Given the description of an element on the screen output the (x, y) to click on. 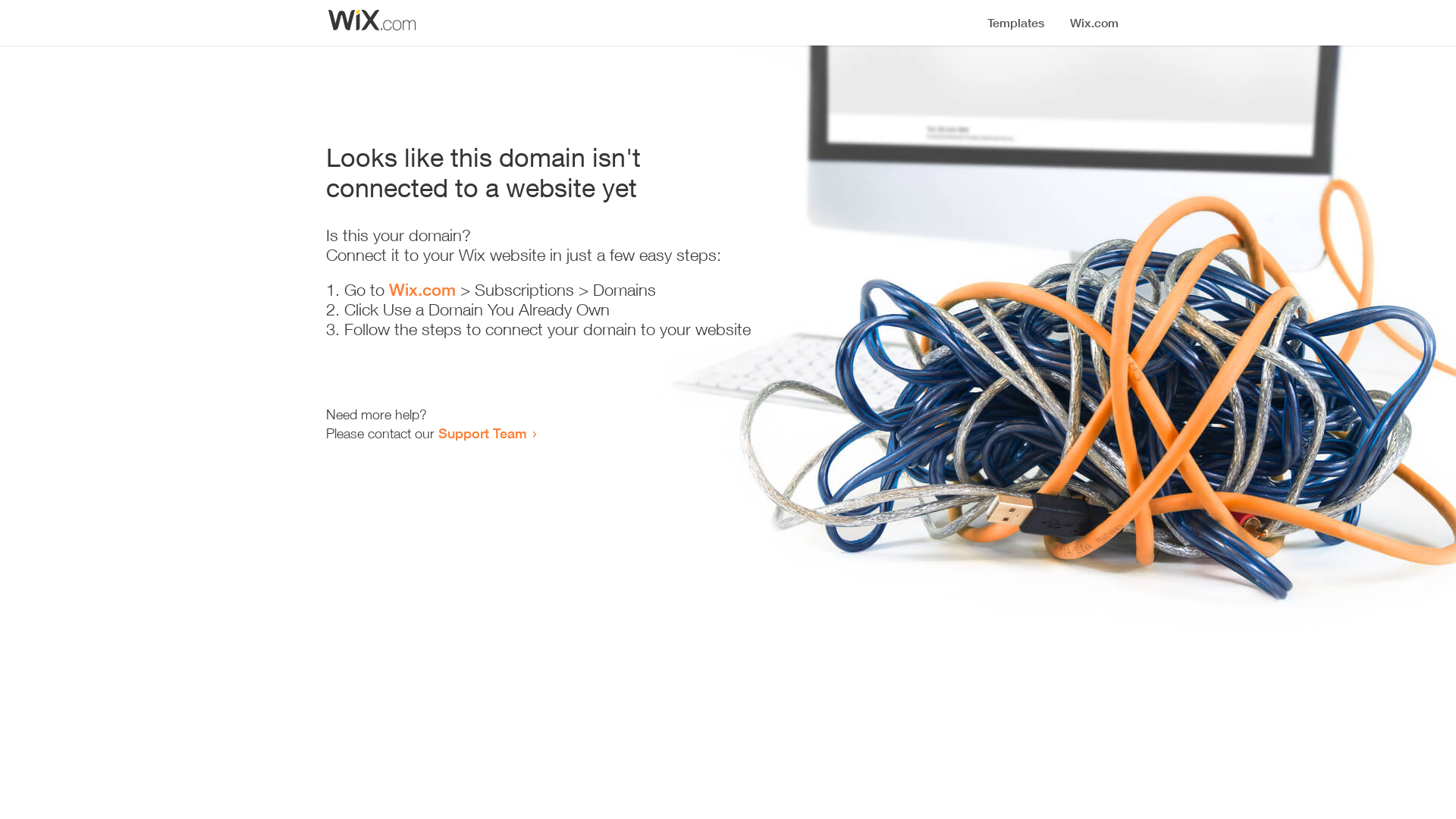
Support Team Element type: text (482, 432)
Wix.com Element type: text (422, 289)
